Given the description of an element on the screen output the (x, y) to click on. 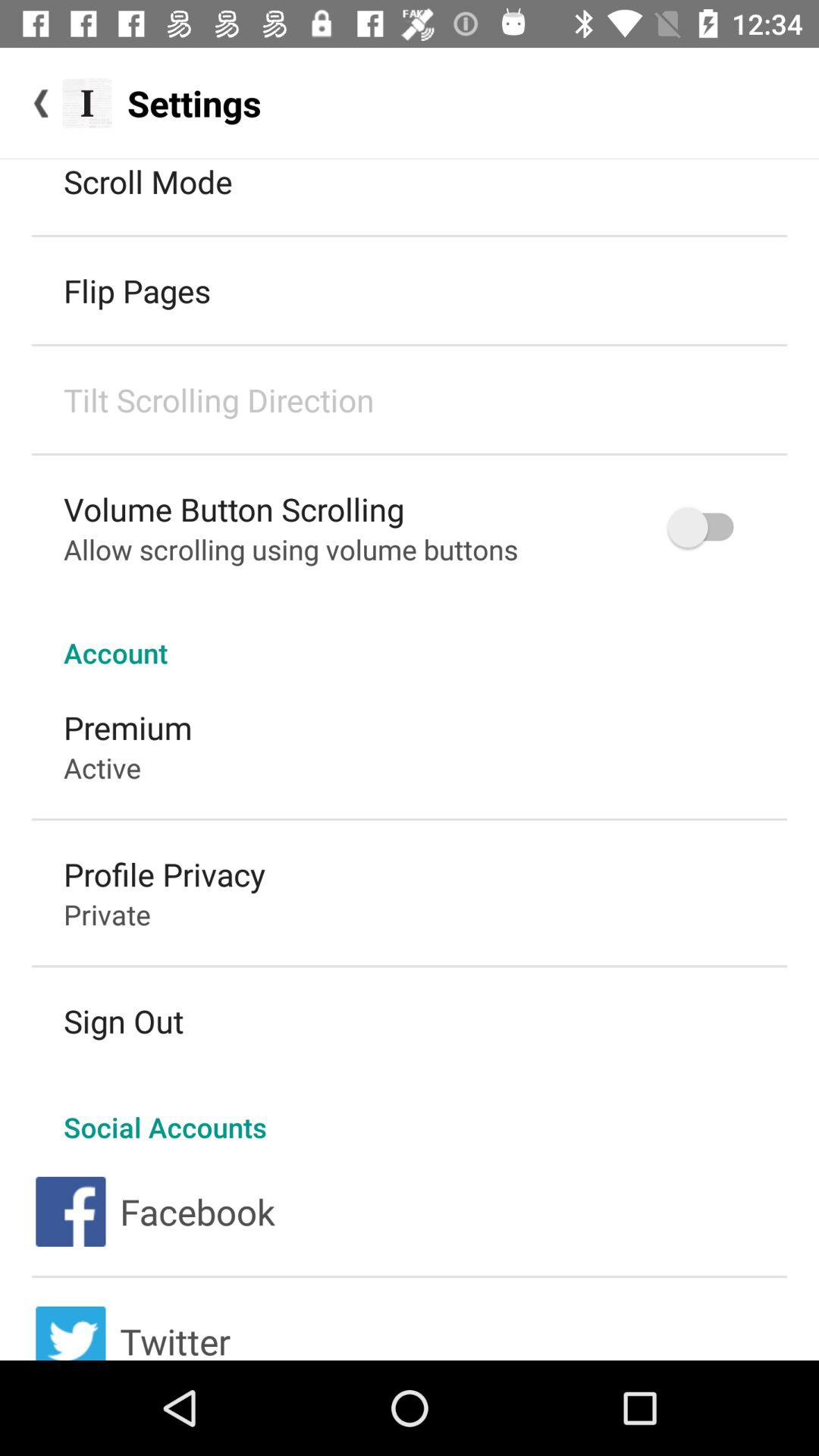
select icon above volume button scrolling (218, 399)
